Given the description of an element on the screen output the (x, y) to click on. 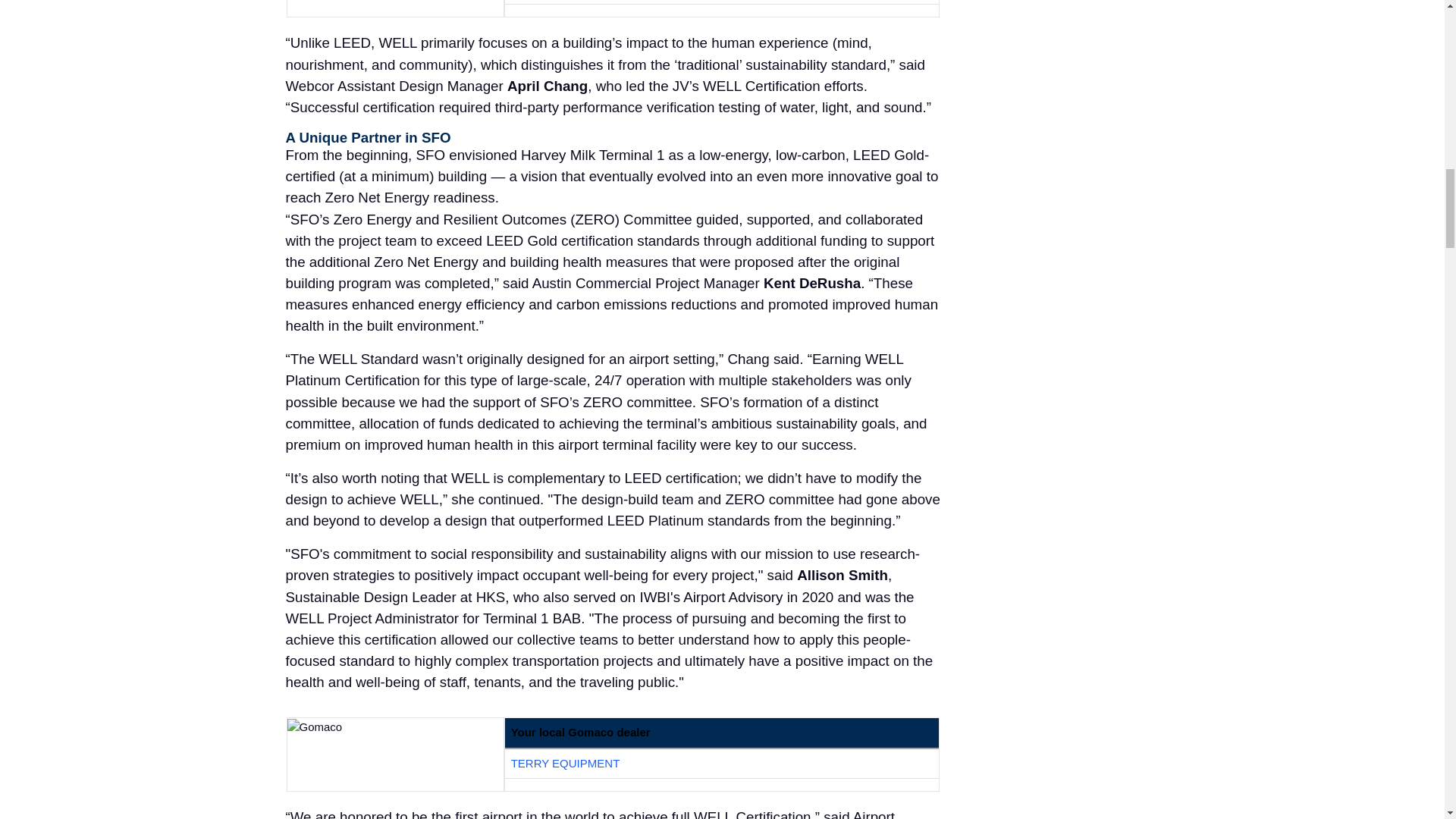
TERRY EQUIPMENT (565, 762)
